Given the description of an element on the screen output the (x, y) to click on. 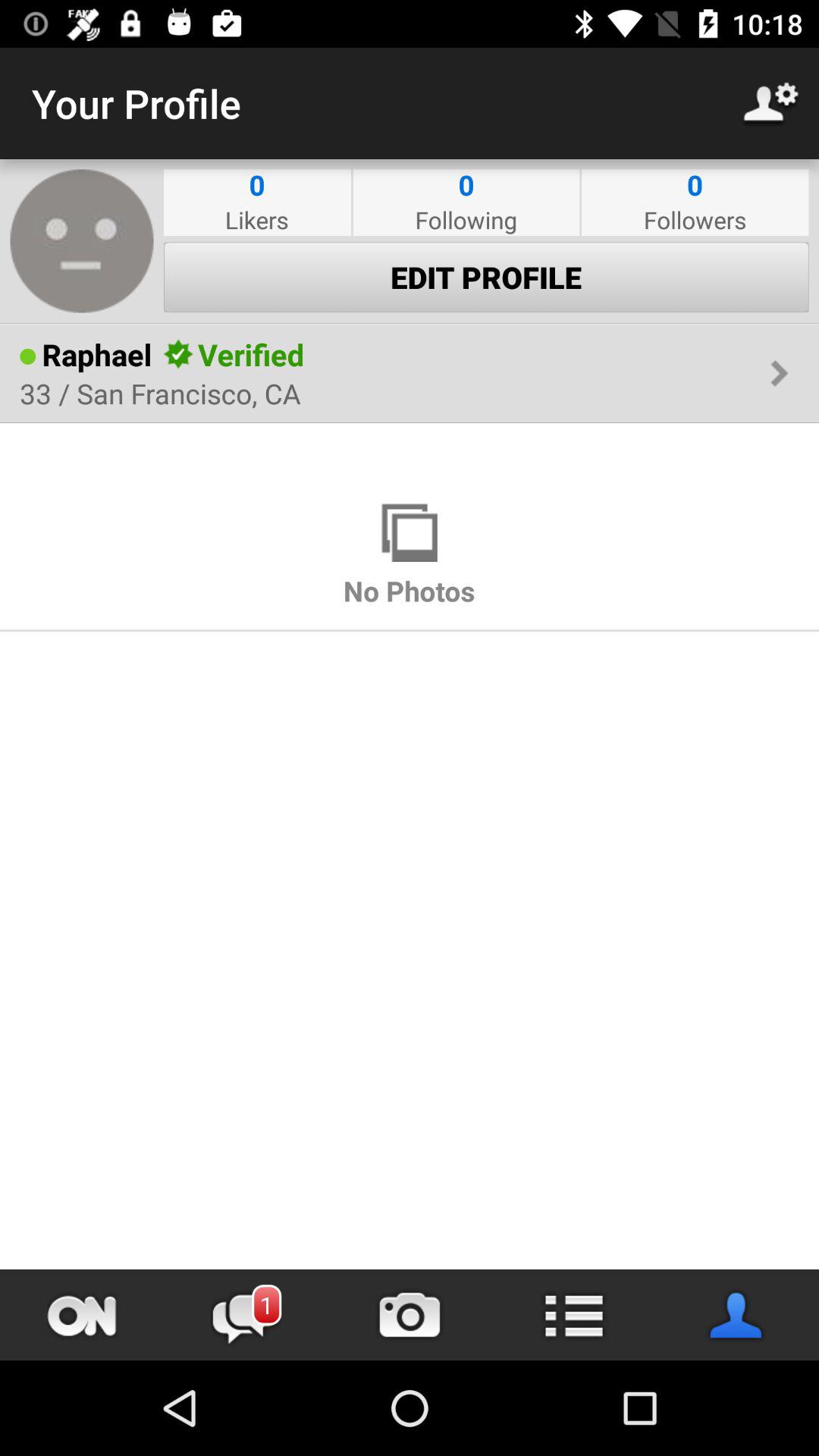
turn on the item above no photos icon (409, 532)
